Given the description of an element on the screen output the (x, y) to click on. 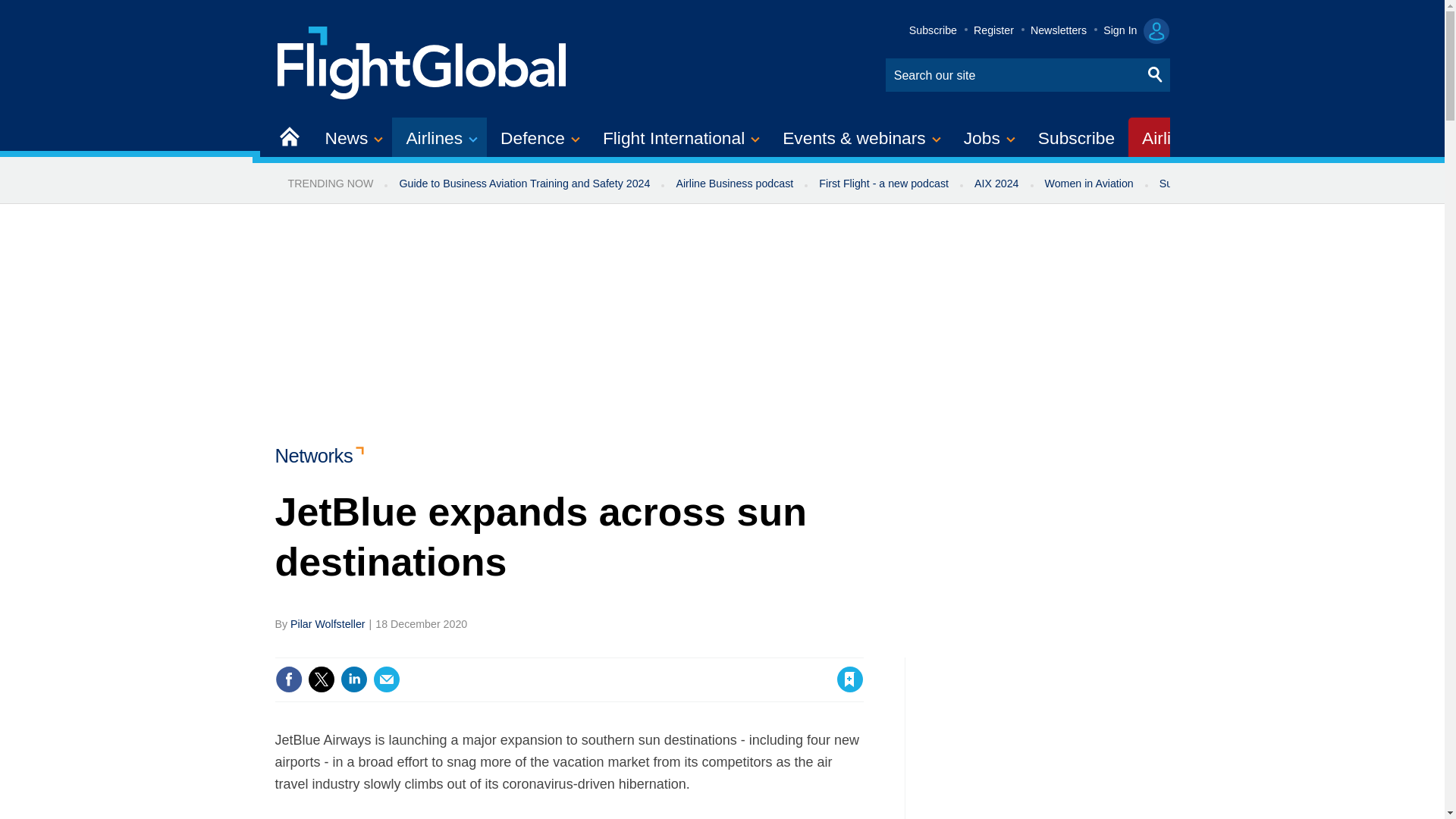
Sustainable Aviation newsletter (1234, 183)
First Flight - a new podcast (883, 183)
AIX 2024 (996, 183)
Airline Business podcast (734, 183)
Women in Aviation (1089, 183)
Guide to Business Aviation Training and Safety 2024 (523, 183)
Share this on Linked in (352, 678)
Email this article (386, 678)
Share this on Facebook (288, 678)
Site name (422, 60)
